Given the description of an element on the screen output the (x, y) to click on. 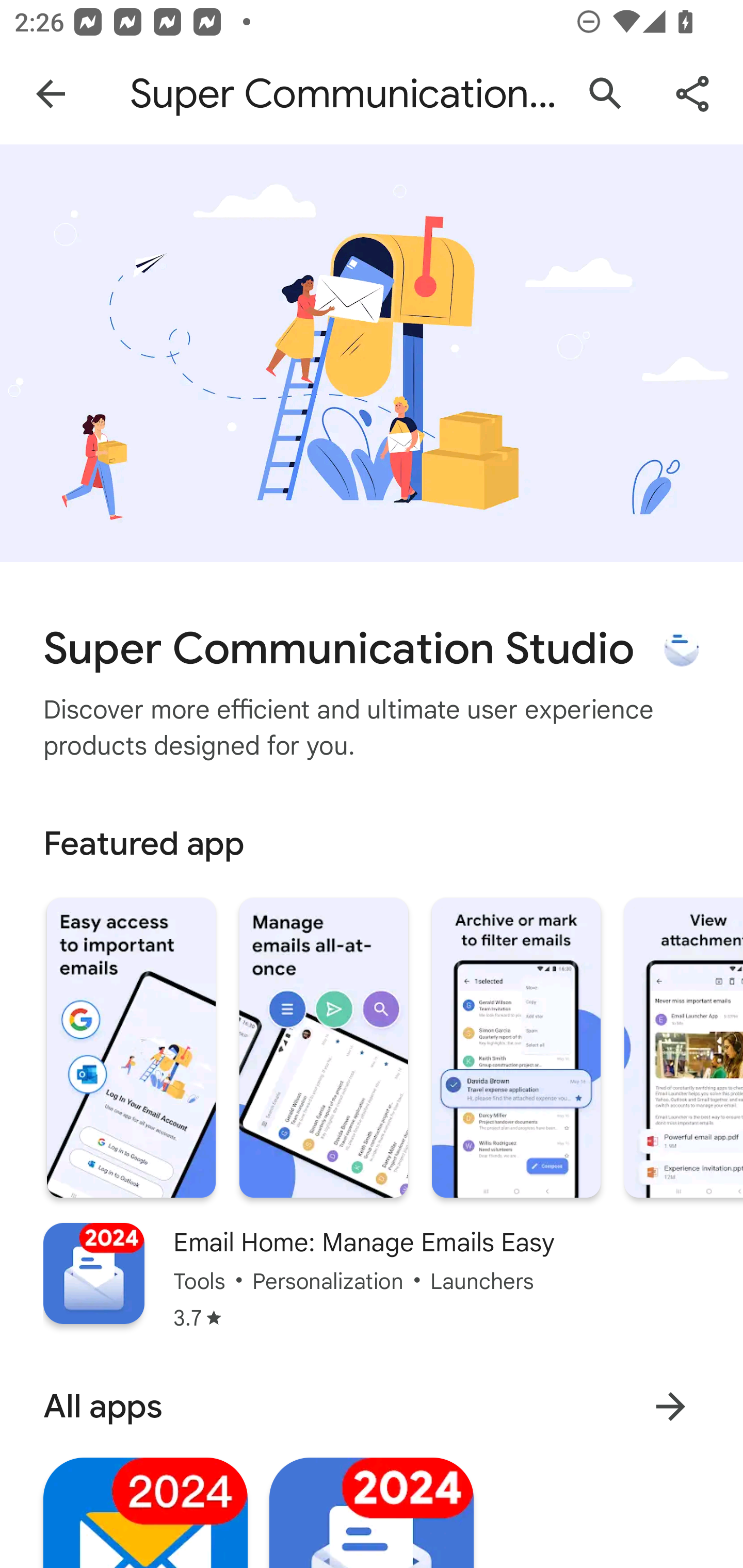
Navigate up (50, 93)
Search Google Play (605, 93)
Share (692, 93)
Screenshot "1" of "6" (130, 1047)
Screenshot "2" of "6" (323, 1047)
Screenshot "3" of "6" (515, 1047)
Screenshot "4" of "6" (683, 1047)
All apps More results for All apps (371, 1406)
More results for All apps (670, 1406)
